Given the description of an element on the screen output the (x, y) to click on. 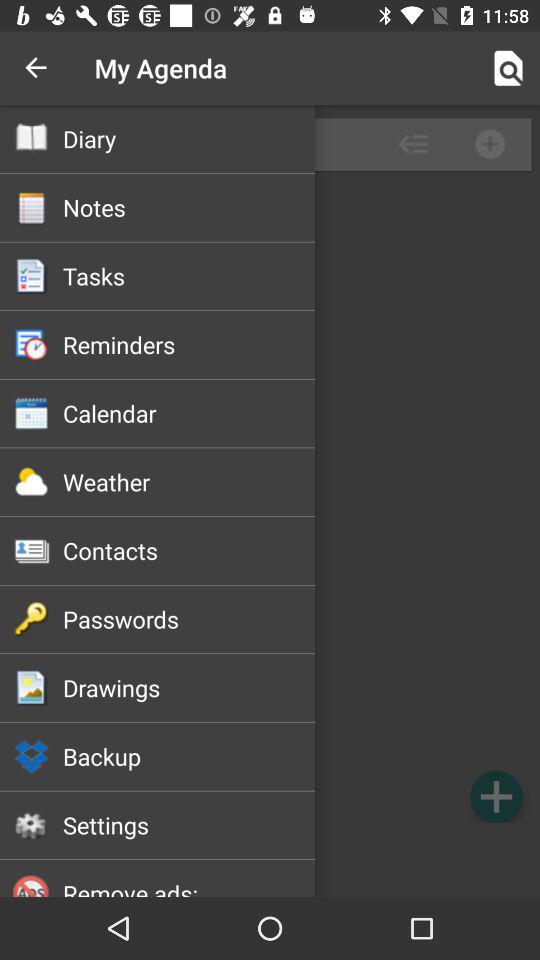
jump until tasks (188, 276)
